Given the description of an element on the screen output the (x, y) to click on. 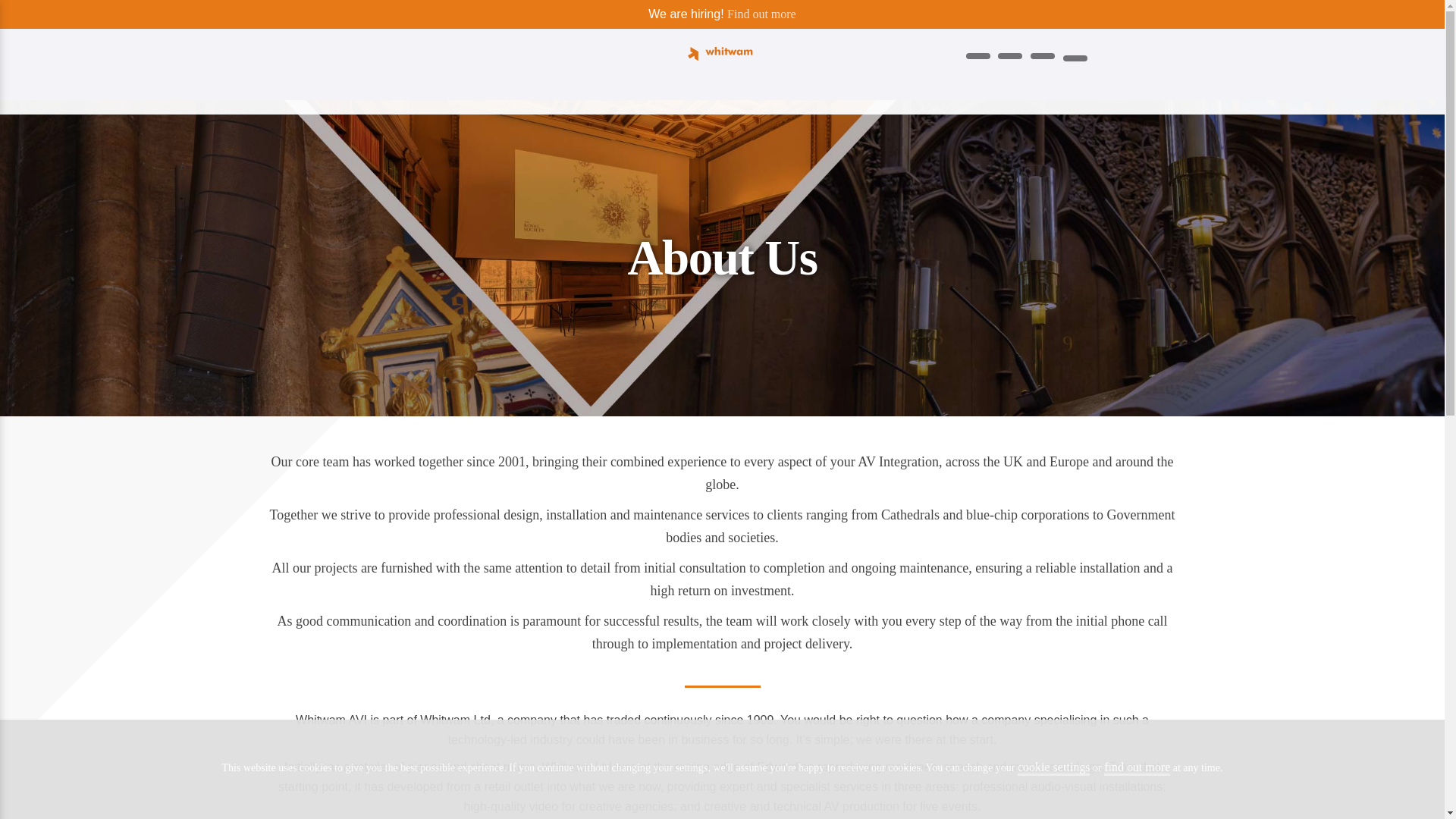
Find out more (761, 13)
MENU (312, 74)
01962 870408 (1119, 55)
